Given the description of an element on the screen output the (x, y) to click on. 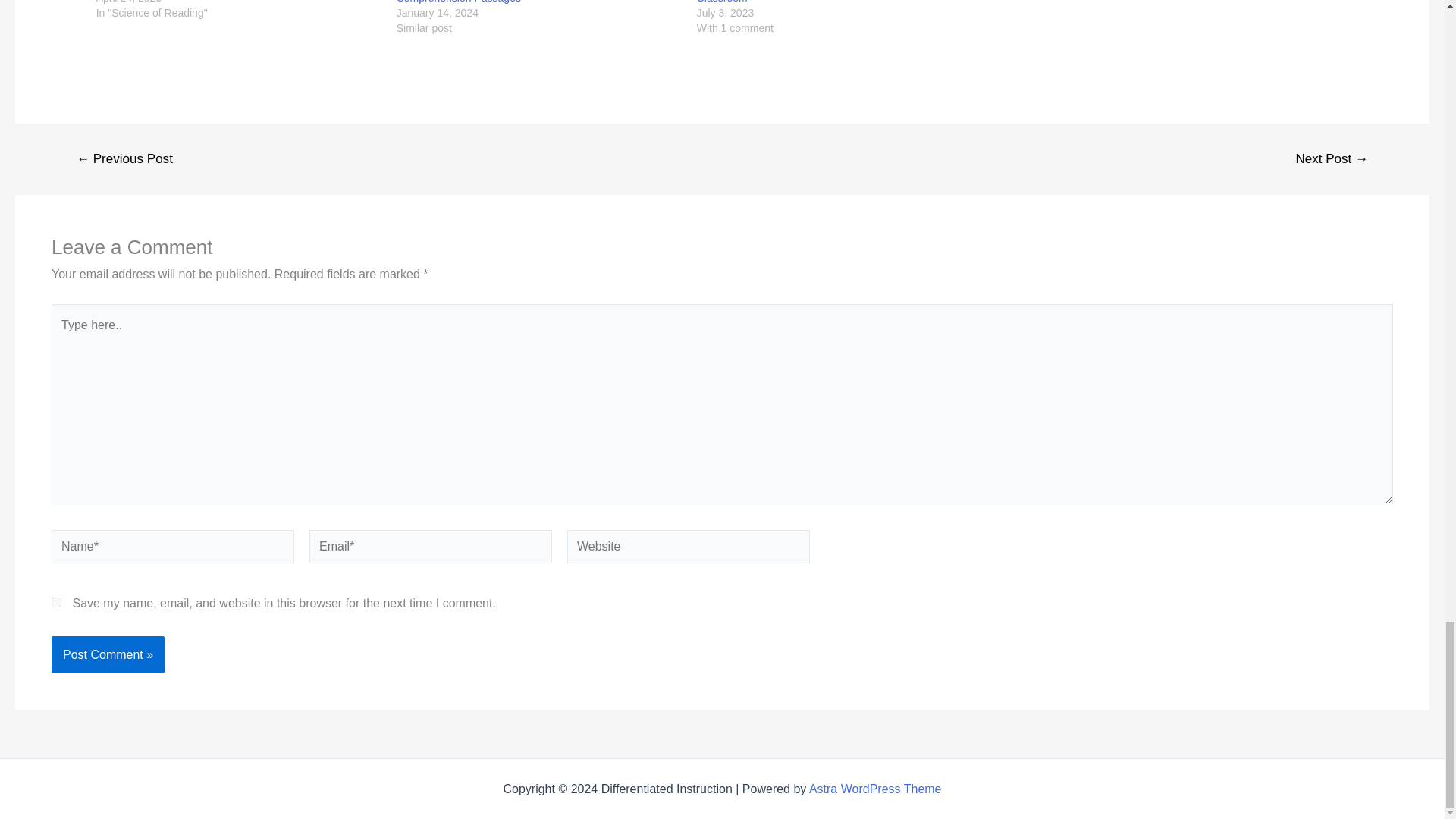
yes (55, 602)
Astra WordPress Theme (875, 788)
